Given the description of an element on the screen output the (x, y) to click on. 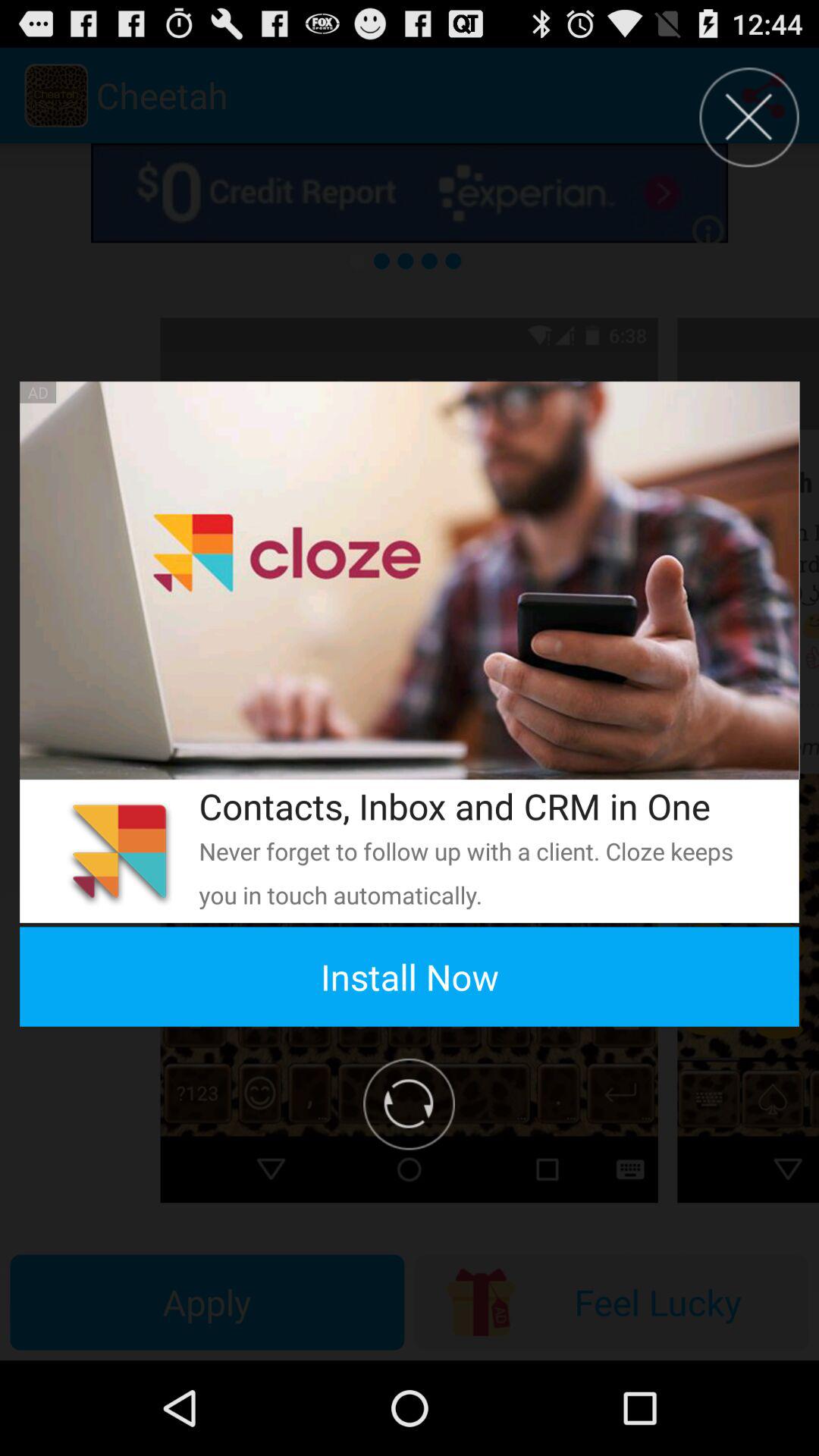
choose the app above the never forget to icon (479, 805)
